Given the description of an element on the screen output the (x, y) to click on. 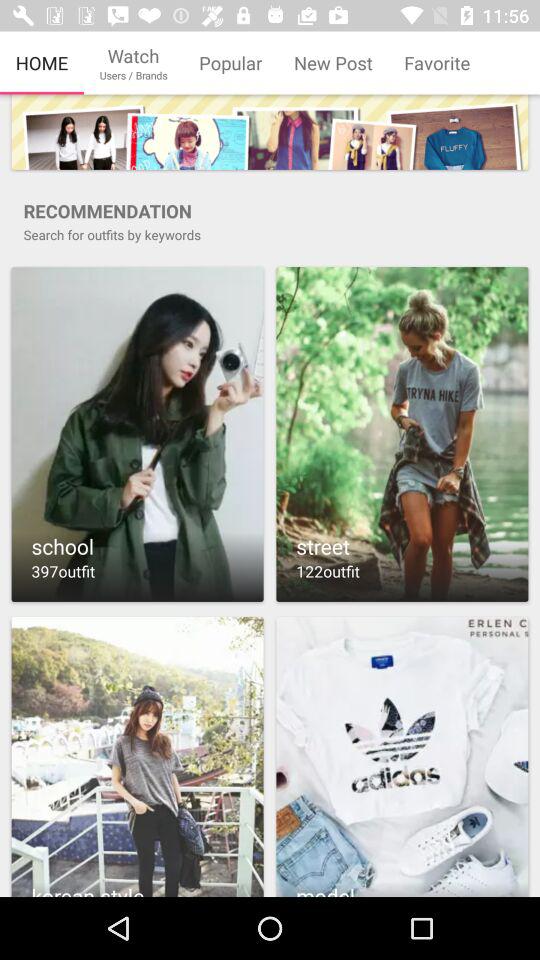
choose the adidas (402, 756)
